Given the description of an element on the screen output the (x, y) to click on. 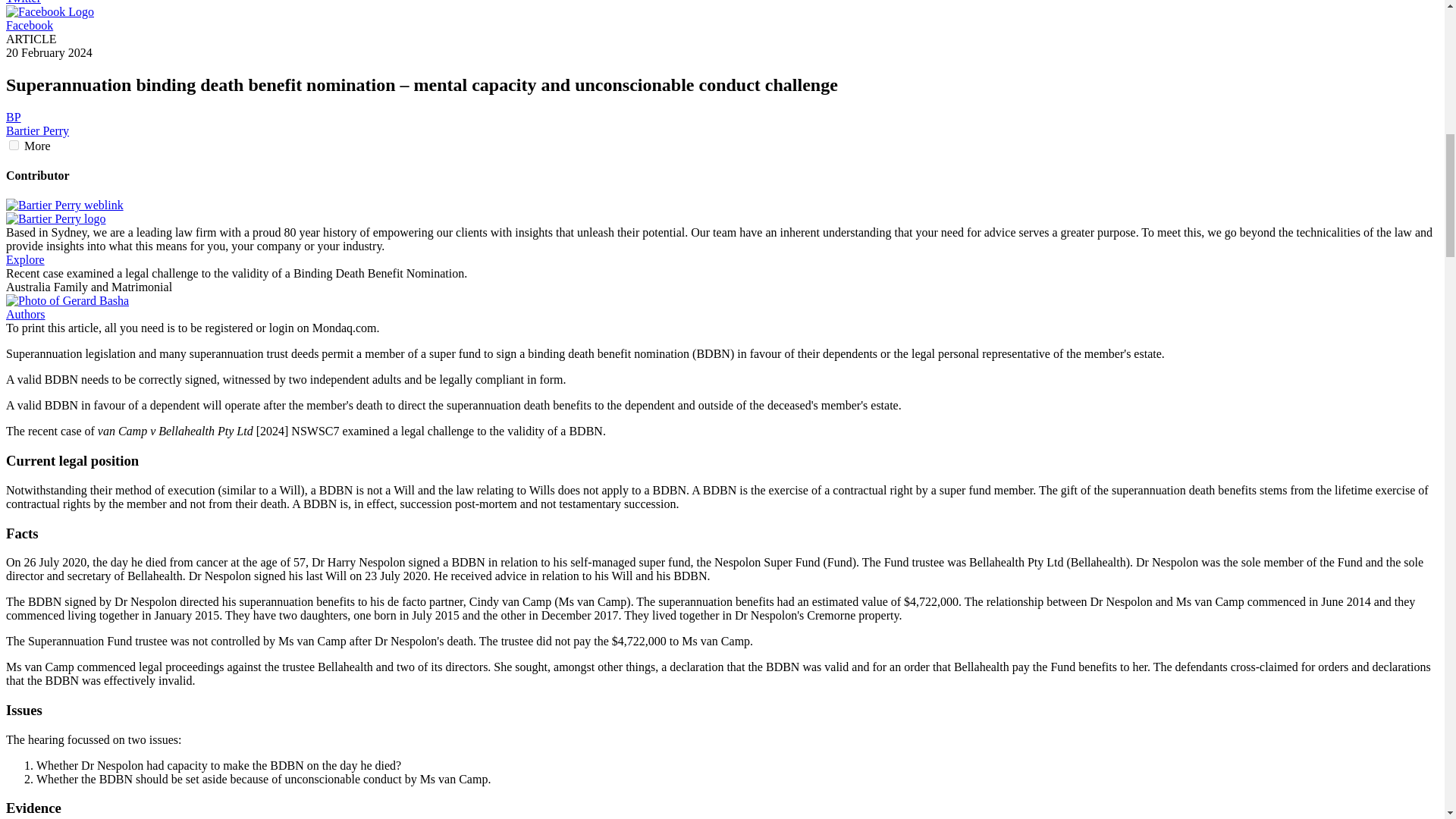
on (13, 144)
